Given the description of an element on the screen output the (x, y) to click on. 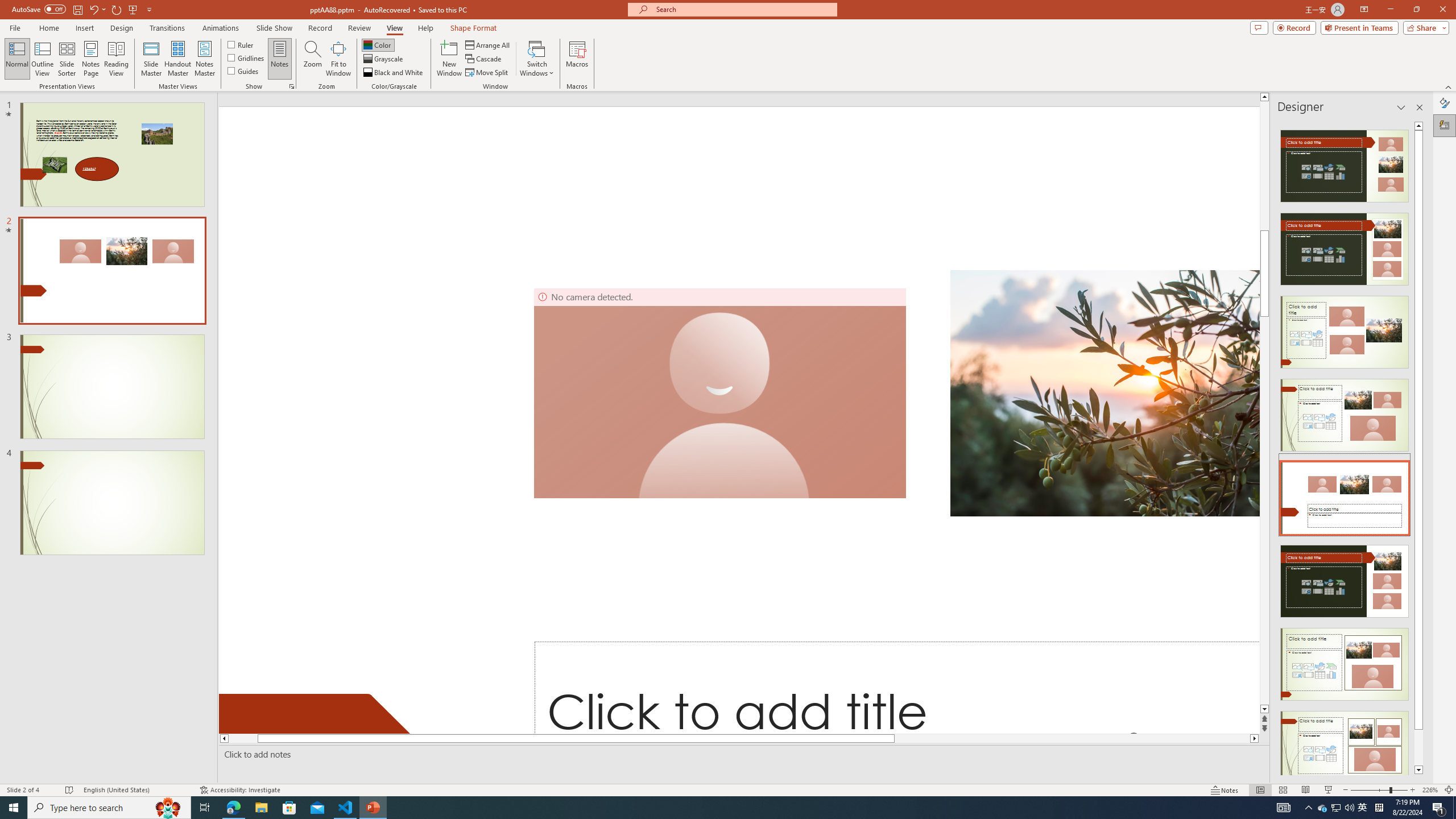
Zoom 226% (1430, 790)
Outline View (42, 58)
